Given the description of an element on the screen output the (x, y) to click on. 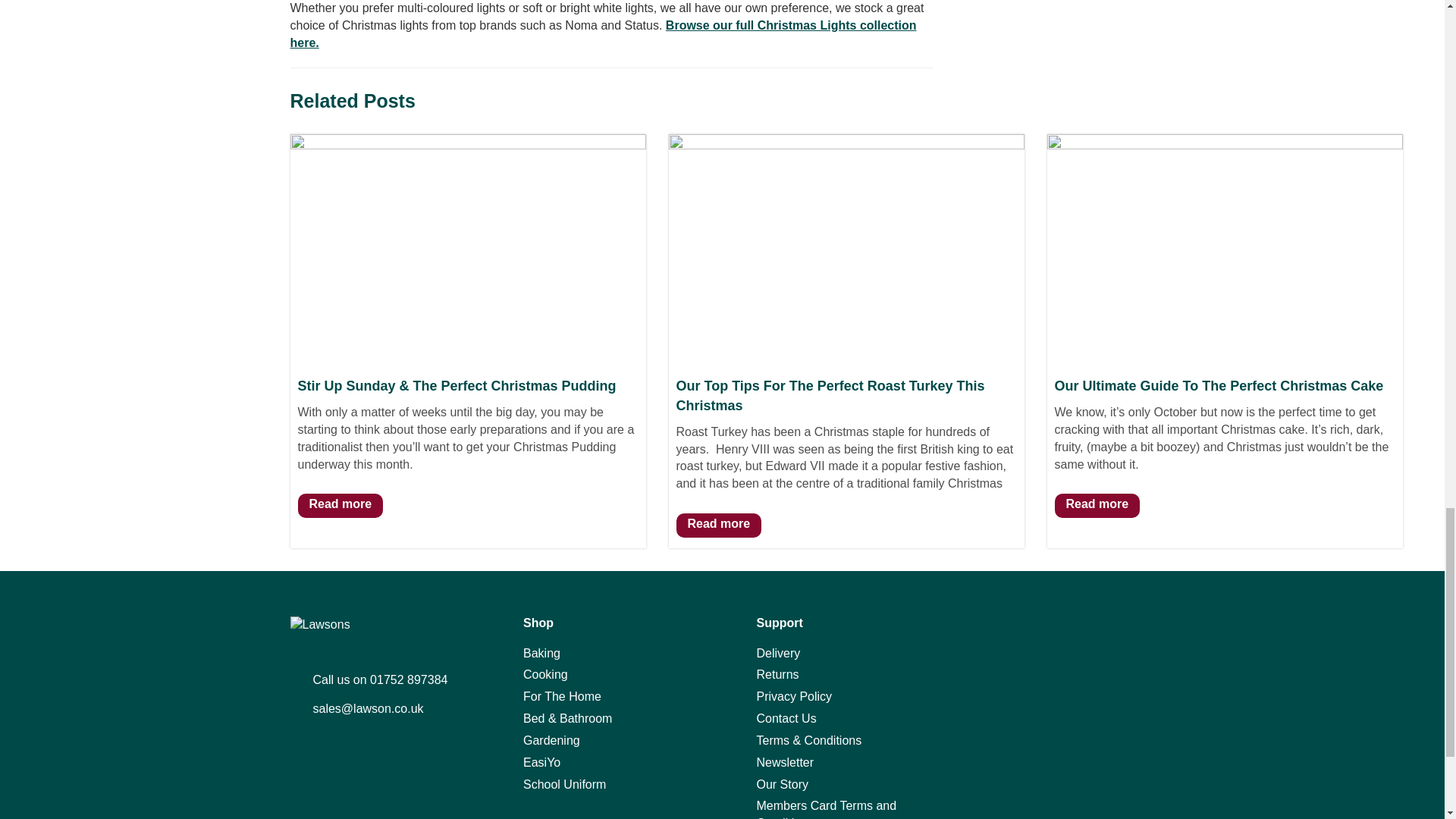
Baking (605, 653)
Browse our full Christmas Lights collection here. (602, 33)
For The Home (605, 696)
Delivery (839, 653)
School Uniform (605, 784)
Gardening (605, 741)
Cooking (605, 674)
For The Home (605, 696)
EasiYo (605, 763)
Baking (605, 653)
